Given the description of an element on the screen output the (x, y) to click on. 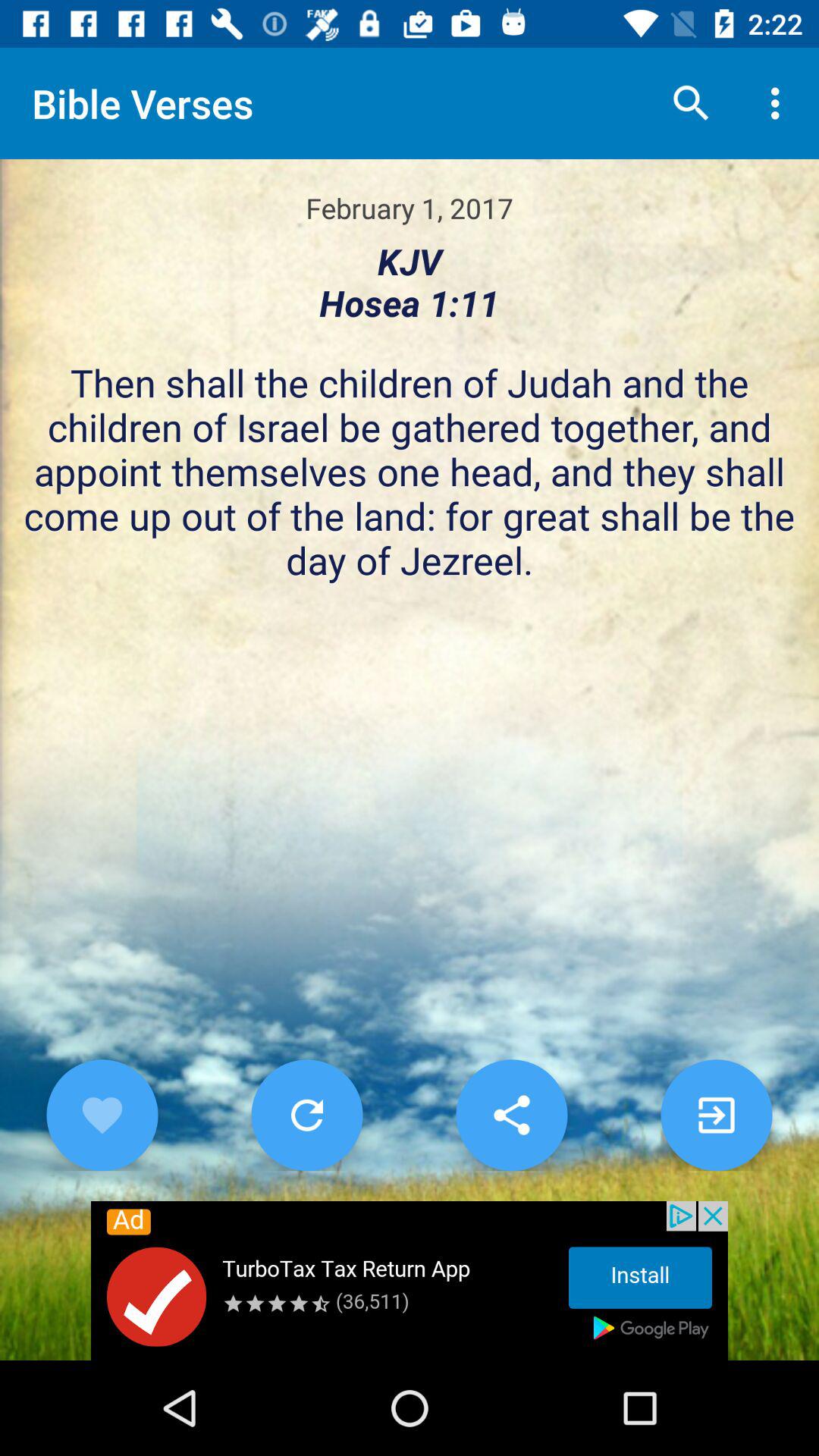
the return option button (306, 1115)
